Given the description of an element on the screen output the (x, y) to click on. 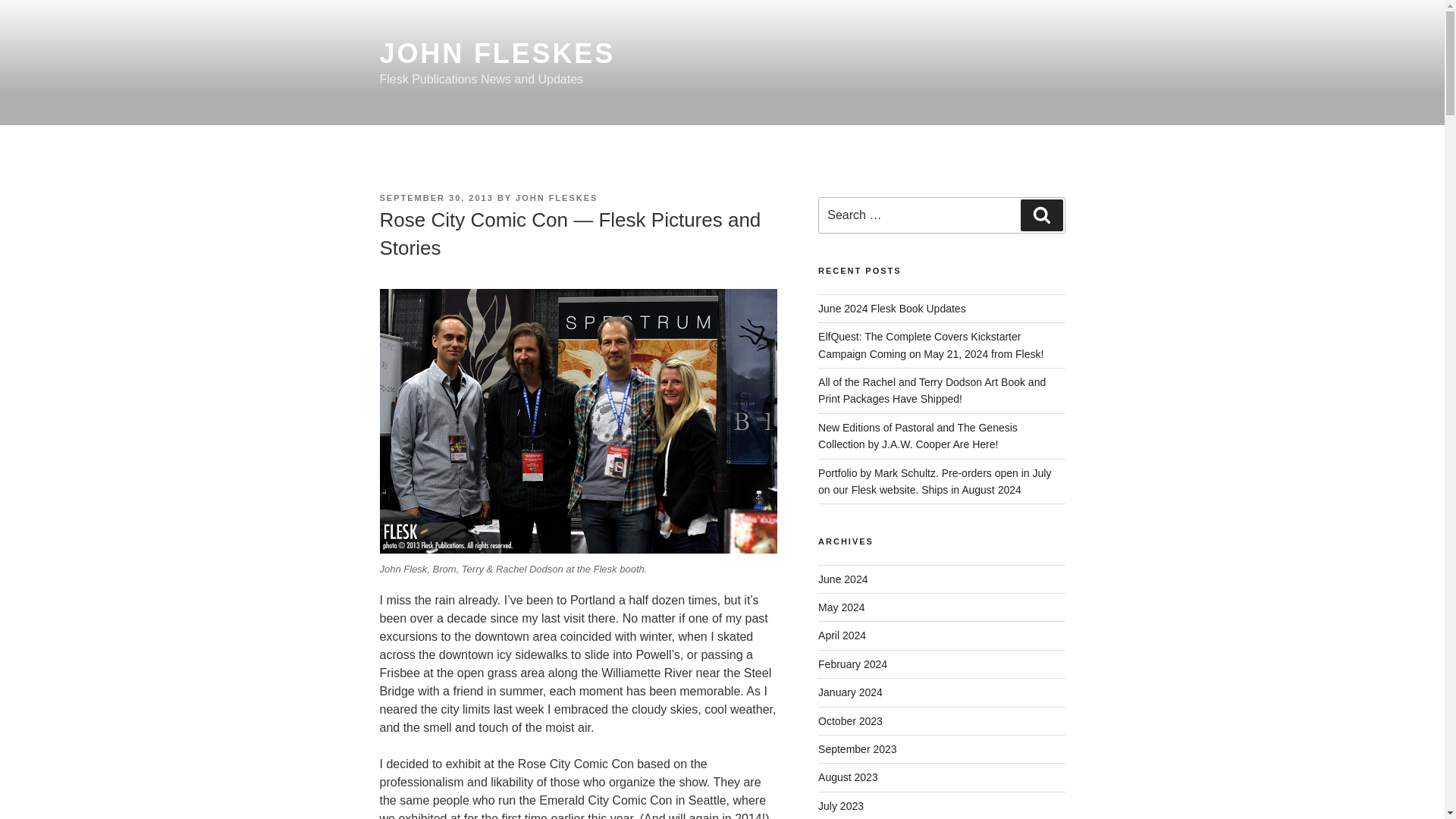
June 2024 (842, 579)
April 2024 (842, 635)
Search (1041, 214)
SEPTEMBER 30, 2013 (435, 197)
JOHN FLESKES (496, 52)
January 2024 (850, 692)
May 2024 (841, 607)
September 2023 (857, 748)
February 2024 (852, 664)
JOHN FLESKES (555, 197)
June 2024 Flesk Book Updates (892, 308)
July 2023 (840, 806)
